Given the description of an element on the screen output the (x, y) to click on. 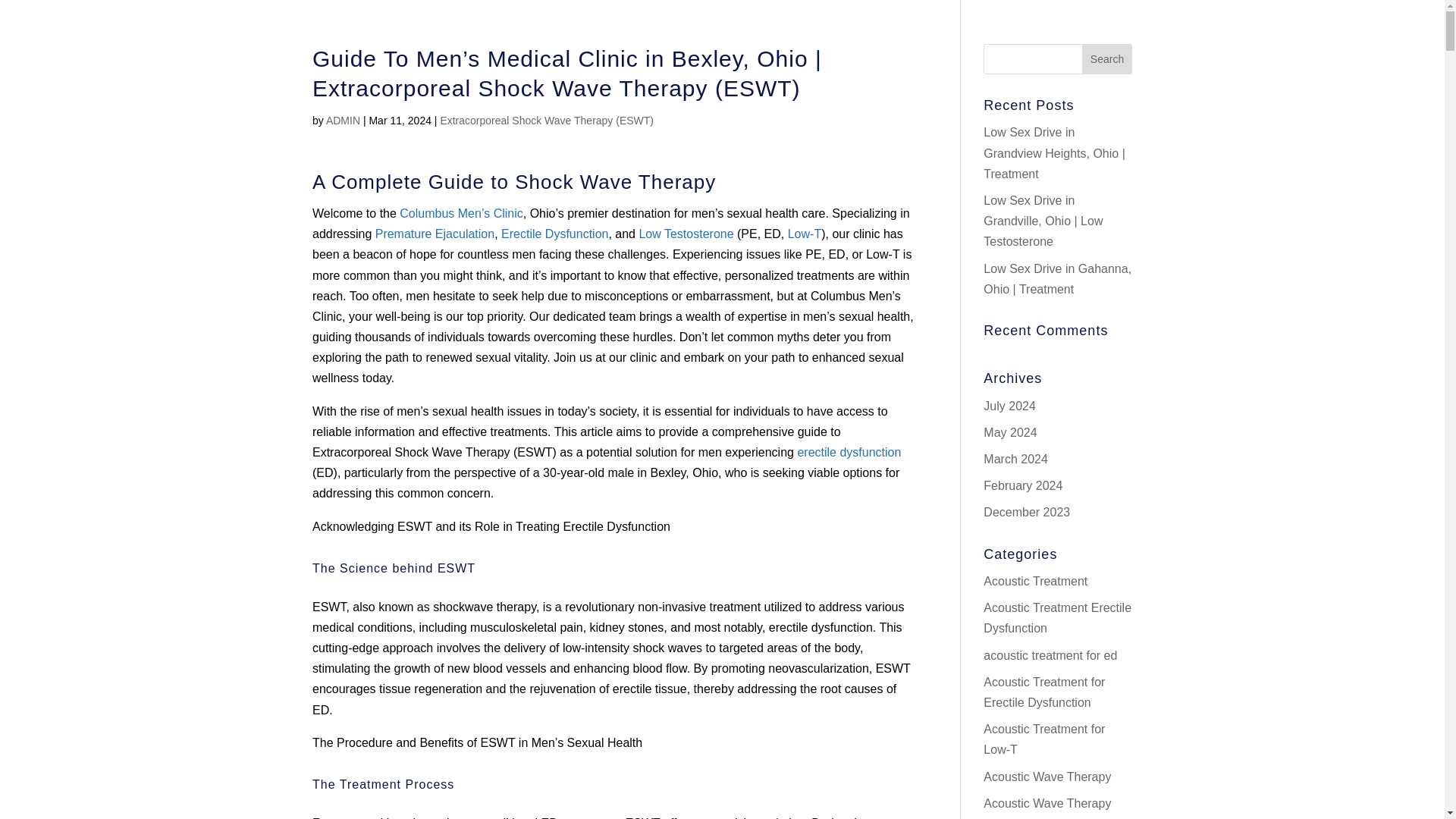
acoustic treatment for ed (1050, 655)
Low-T (804, 233)
Acoustic Wave Therapy (1047, 776)
Low-T Page (804, 233)
February 2024 (1023, 485)
Premature Ejaculation (435, 233)
Acoustic Treatment for Low-T (1044, 738)
Premature Ejaculation (435, 233)
Search (1106, 59)
ED Page (848, 451)
